Given the description of an element on the screen output the (x, y) to click on. 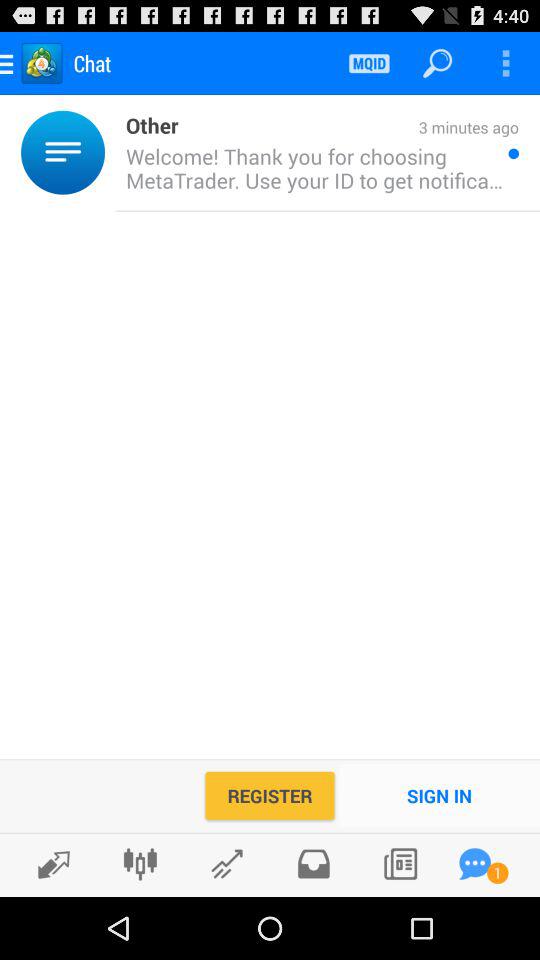
click to print (313, 863)
